Given the description of an element on the screen output the (x, y) to click on. 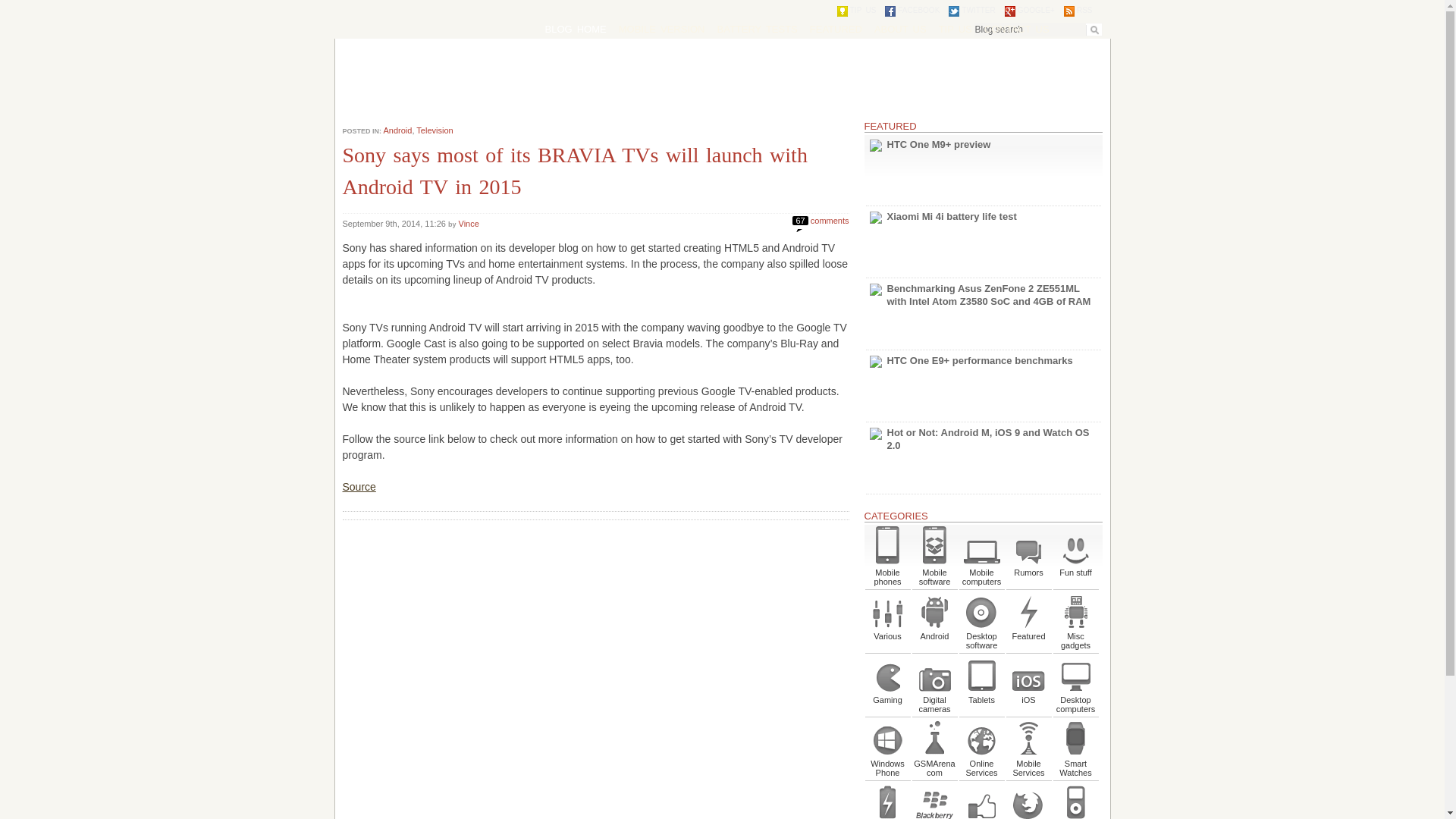
View all posts in Android (398, 130)
09 September 2014 11:26:46 AM (395, 223)
Blog search (1038, 29)
Source (358, 486)
Android (398, 130)
ABOUT US (900, 28)
Vince (468, 223)
Hot or Not: Android M, iOS 9 and Watch OS 2.0 (983, 458)
TIP US (955, 28)
RSS (1078, 10)
BATTERY TESTS (757, 28)
TWITTER (971, 10)
FEATURED (835, 28)
Go (1094, 29)
View all posts in Television (434, 130)
